Given the description of an element on the screen output the (x, y) to click on. 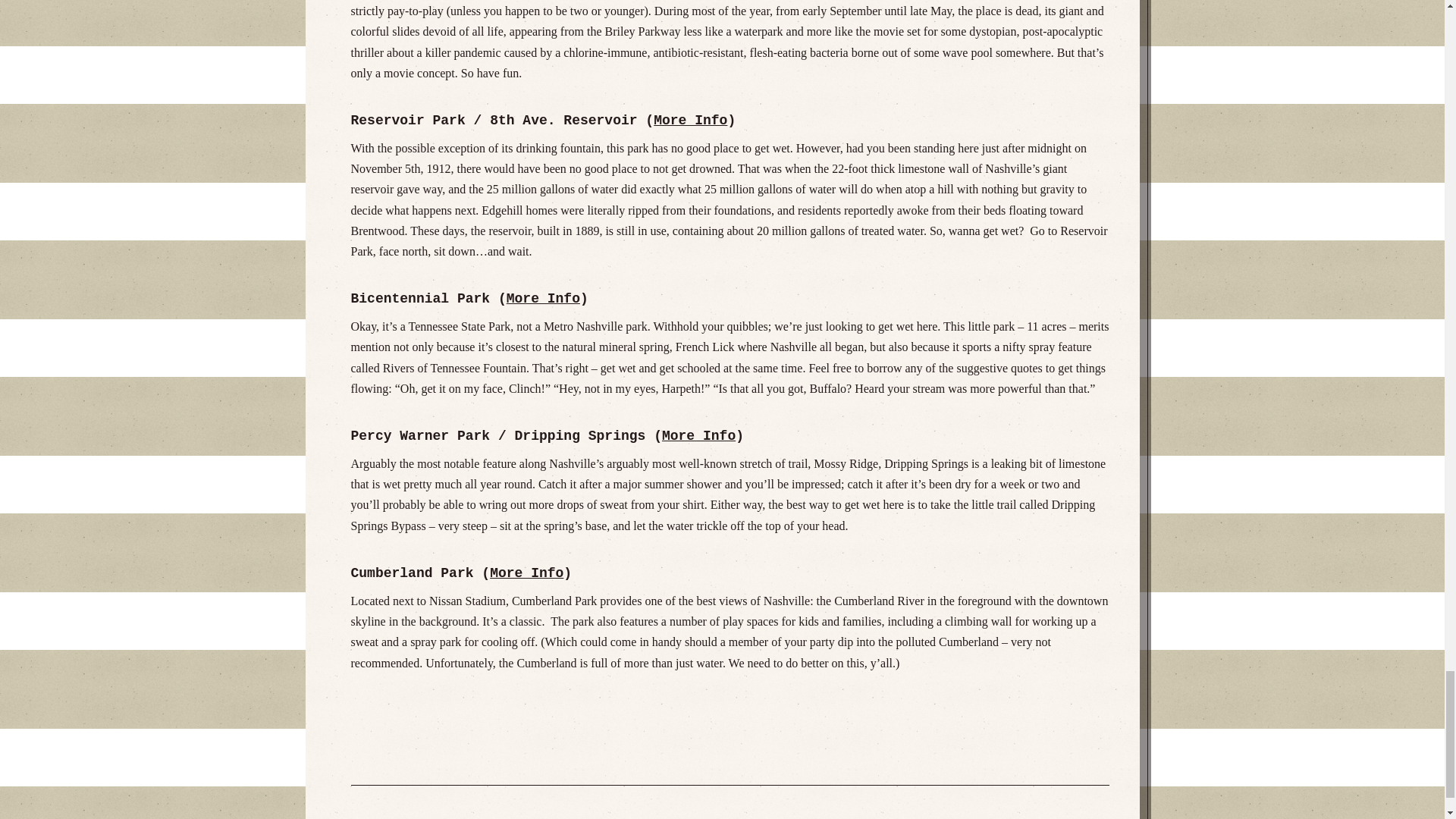
More Info (526, 572)
More Info (542, 298)
More Info (689, 120)
More Info (698, 435)
